Given the description of an element on the screen output the (x, y) to click on. 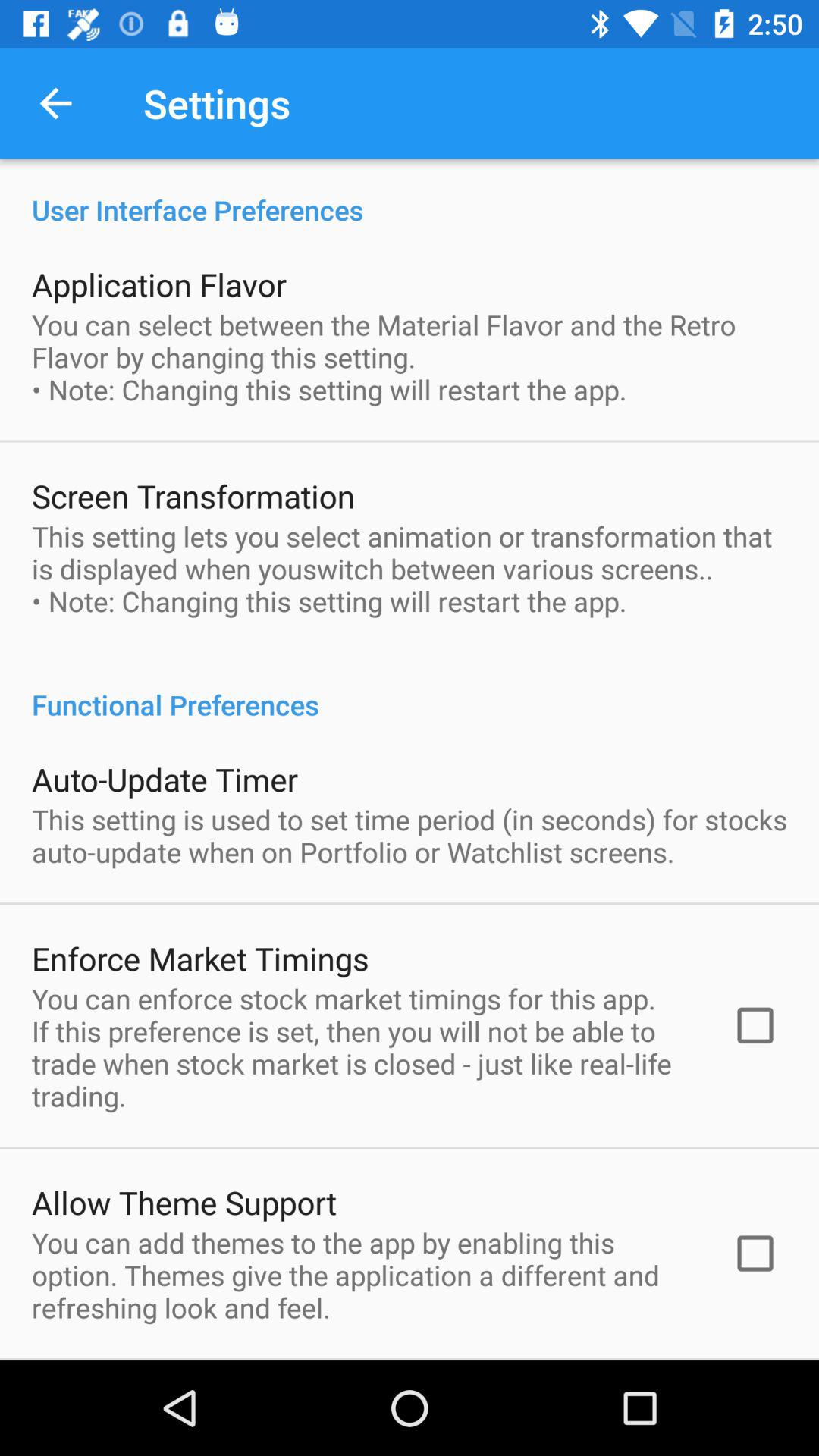
flip until functional preferences icon (409, 688)
